Given the description of an element on the screen output the (x, y) to click on. 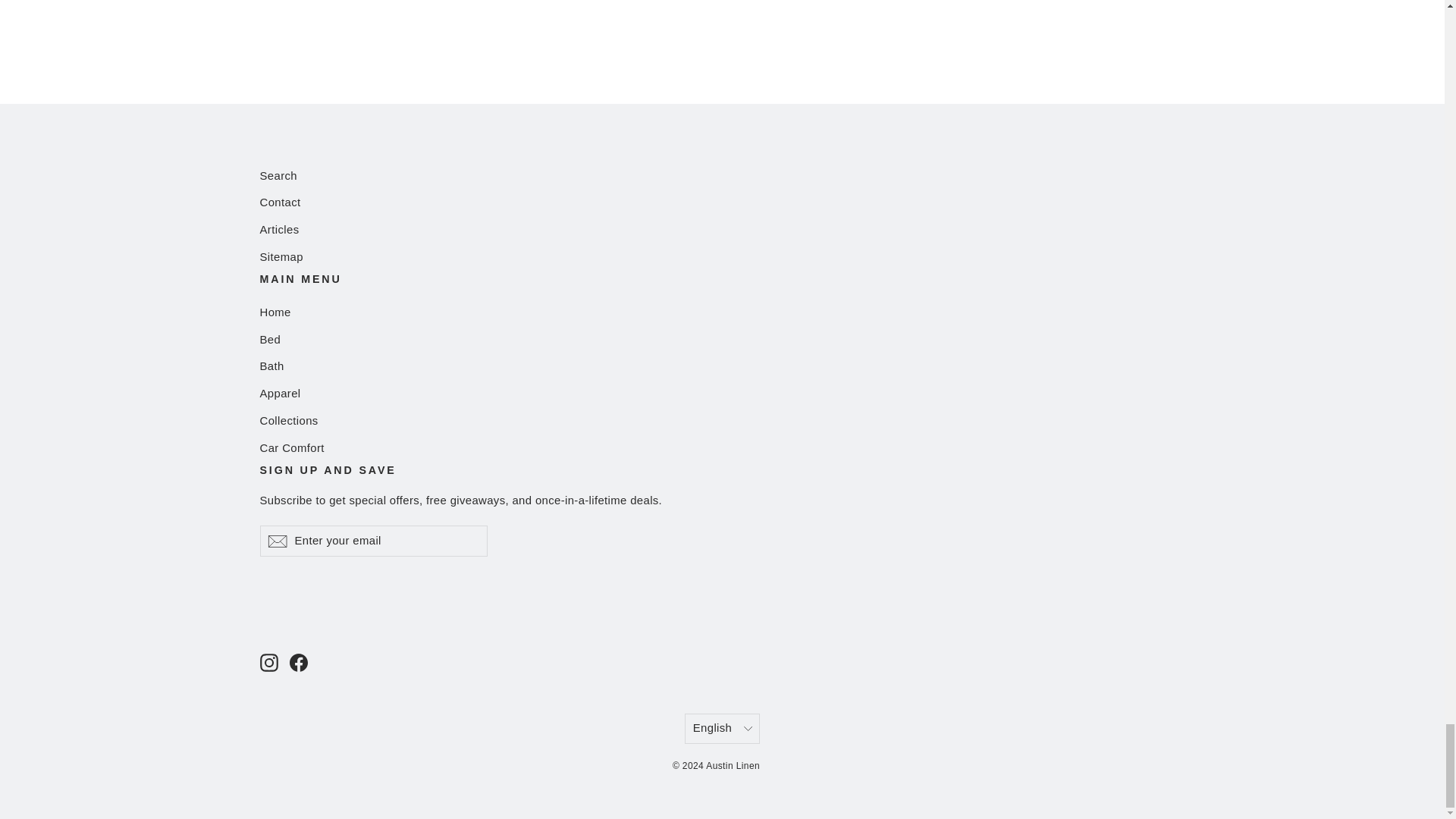
Austin Linen on Instagram (268, 661)
Austin Linen on Facebook (298, 661)
instagram (268, 662)
icon-email (276, 541)
